Given the description of an element on the screen output the (x, y) to click on. 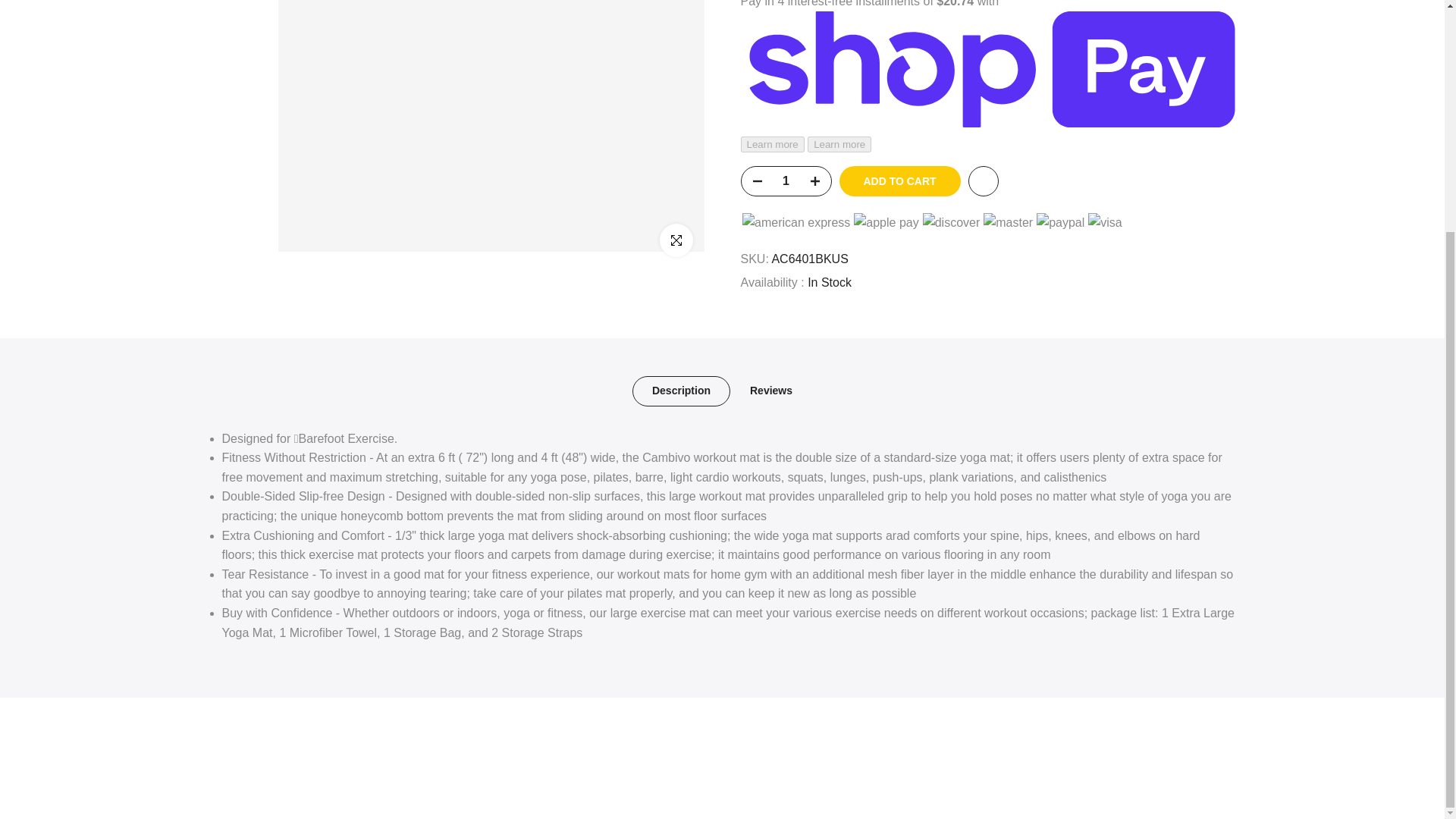
Description (680, 390)
ADD TO CART (898, 177)
1 (786, 176)
Reviews (771, 390)
